Given the description of an element on the screen output the (x, y) to click on. 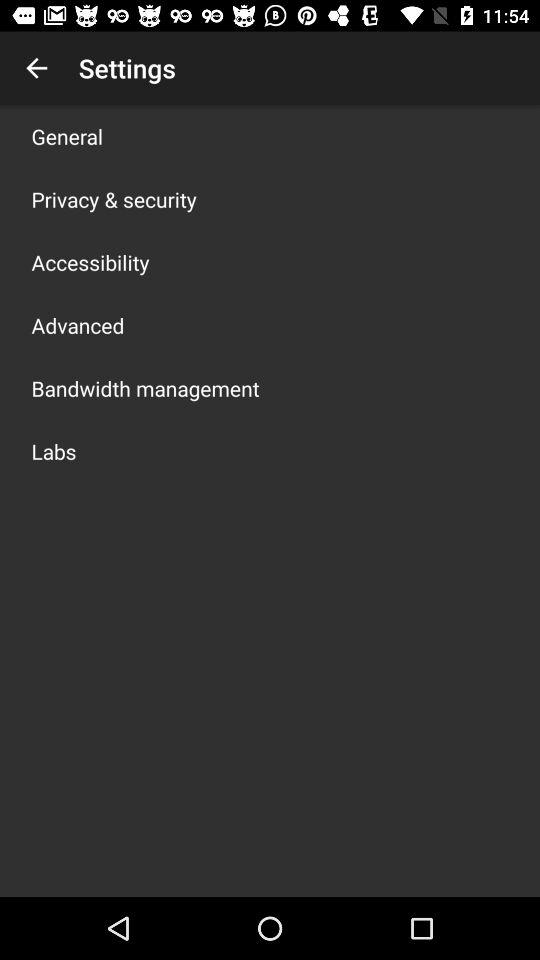
scroll to privacy & security (113, 199)
